Given the description of an element on the screen output the (x, y) to click on. 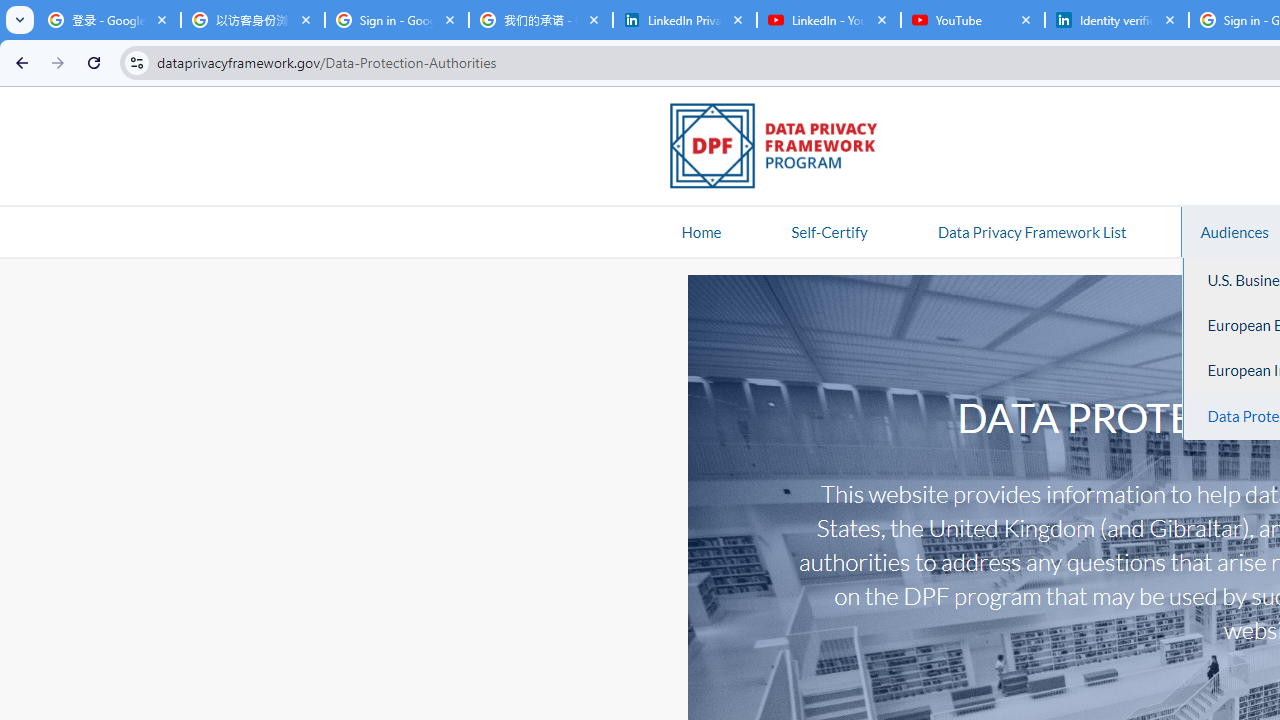
YouTube (972, 20)
Sign in - Google Accounts (396, 20)
